Given the description of an element on the screen output the (x, y) to click on. 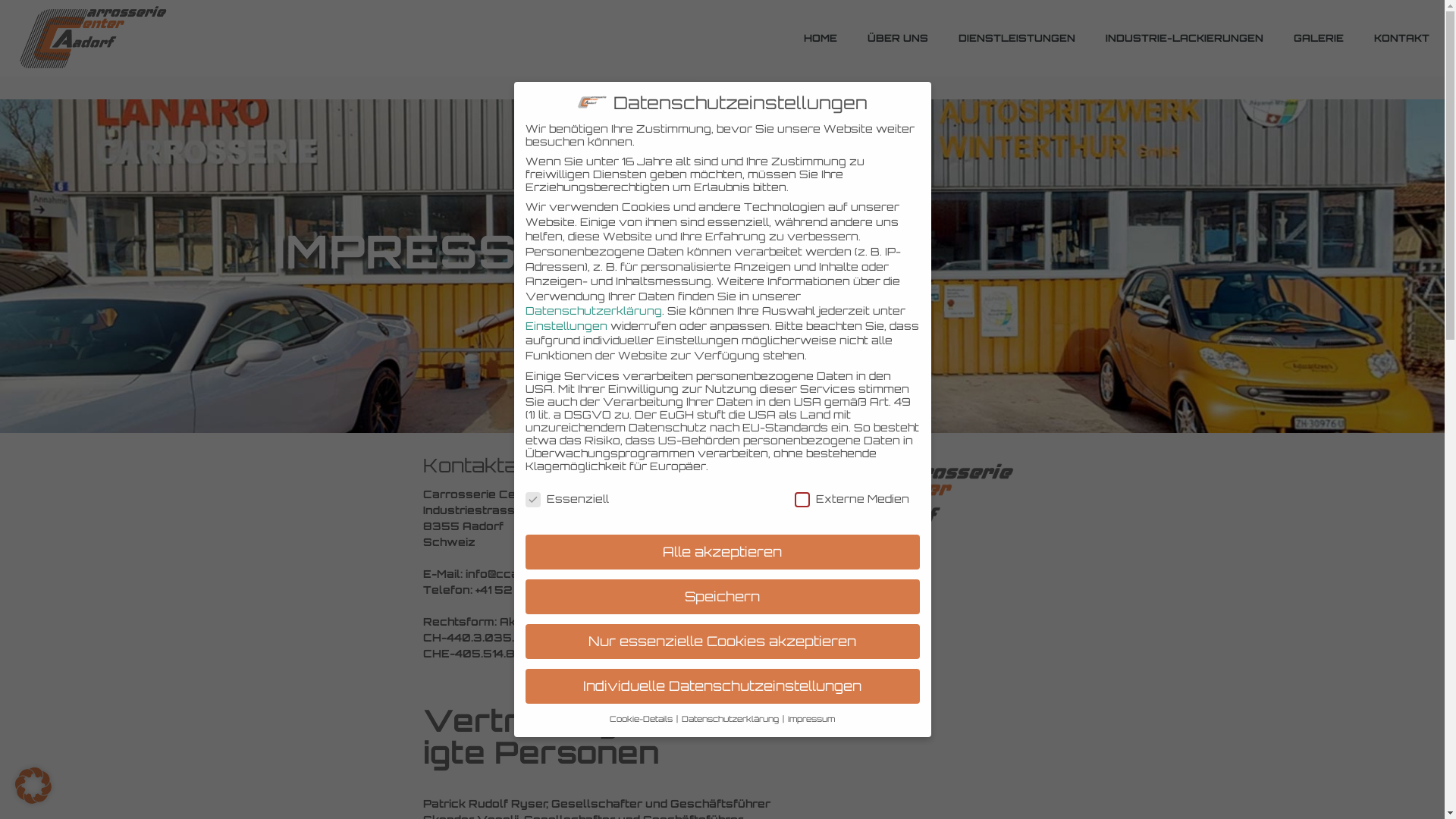
Impressum Element type: text (810, 718)
Einstellungen Element type: text (565, 325)
Carrosserie Center Aadorf AG Element type: hover (93, 37)
INDUSTRIE-LACKIERUNGEN Element type: text (1184, 37)
DIENSTLEISTUNGEN Element type: text (1016, 37)
Speichern Element type: text (721, 596)
Individuelle Datenschutzeinstellungen Element type: text (721, 685)
Nur essenzielle Cookies akzeptieren Element type: text (721, 641)
Alle akzeptieren Element type: text (721, 551)
KONTAKT Element type: text (1401, 37)
GALERIE Element type: text (1318, 37)
HOME Element type: text (820, 37)
Cookie-Details Element type: text (641, 718)
